Given the description of an element on the screen output the (x, y) to click on. 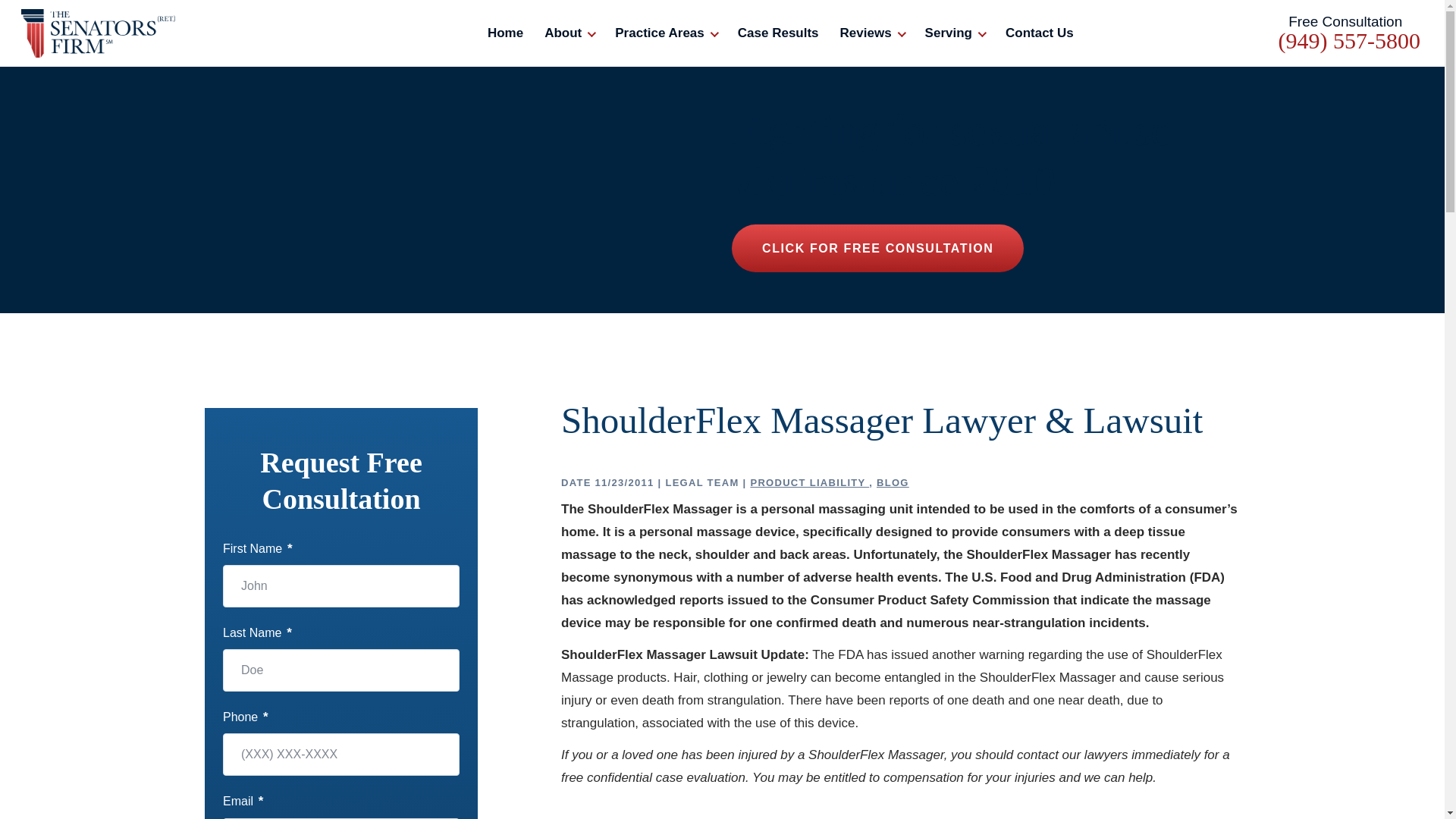
Case Results (778, 33)
Contact Us (1040, 33)
PRODUCT LIABILITY (809, 482)
Practice Areas (665, 33)
The Senators Firm (96, 33)
Reviews (872, 33)
CLICK FOR FREE CONSULTATION (877, 247)
Phone (1349, 40)
BLOG (892, 482)
